Given the description of an element on the screen output the (x, y) to click on. 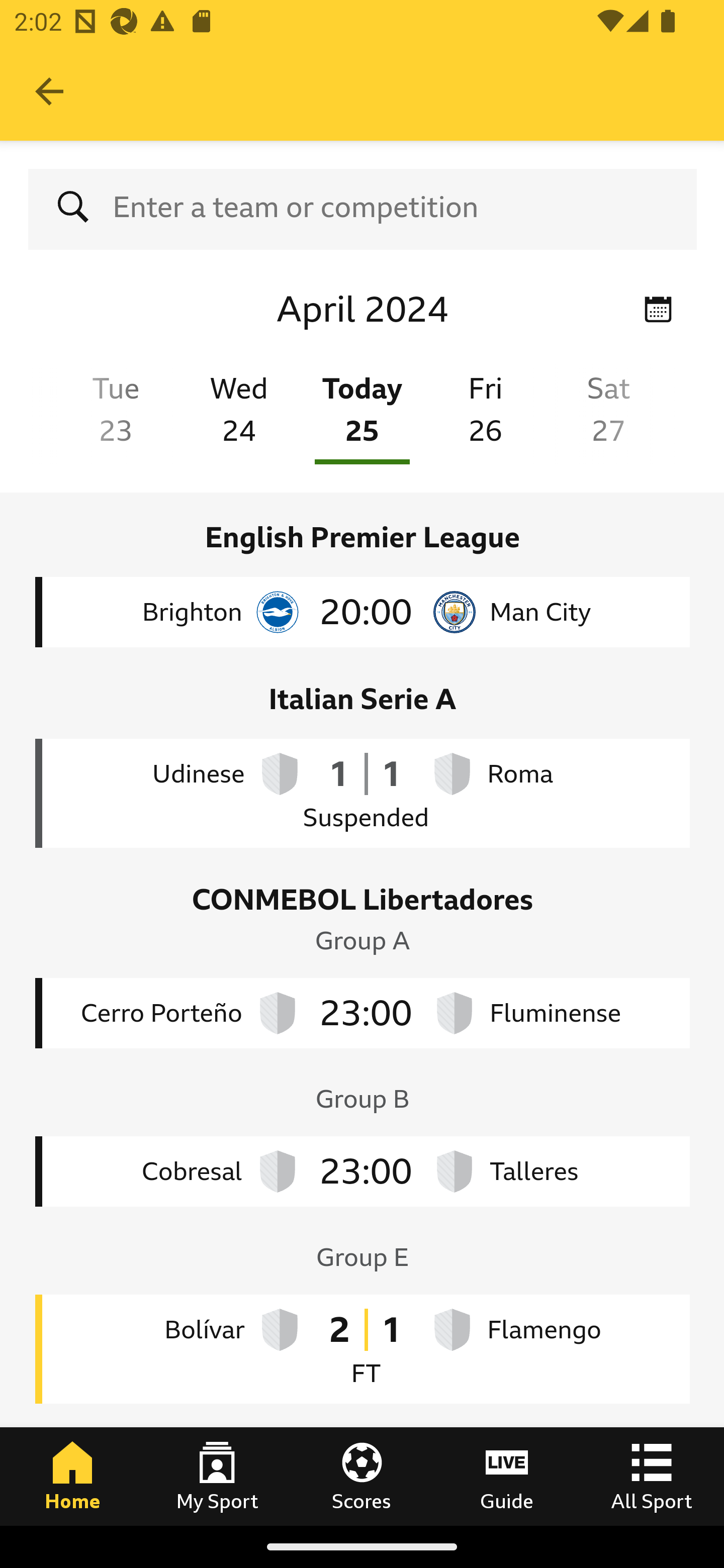
Navigate up (49, 91)
My Sport (216, 1475)
Scores (361, 1475)
Guide (506, 1475)
All Sport (651, 1475)
